Given the description of an element on the screen output the (x, y) to click on. 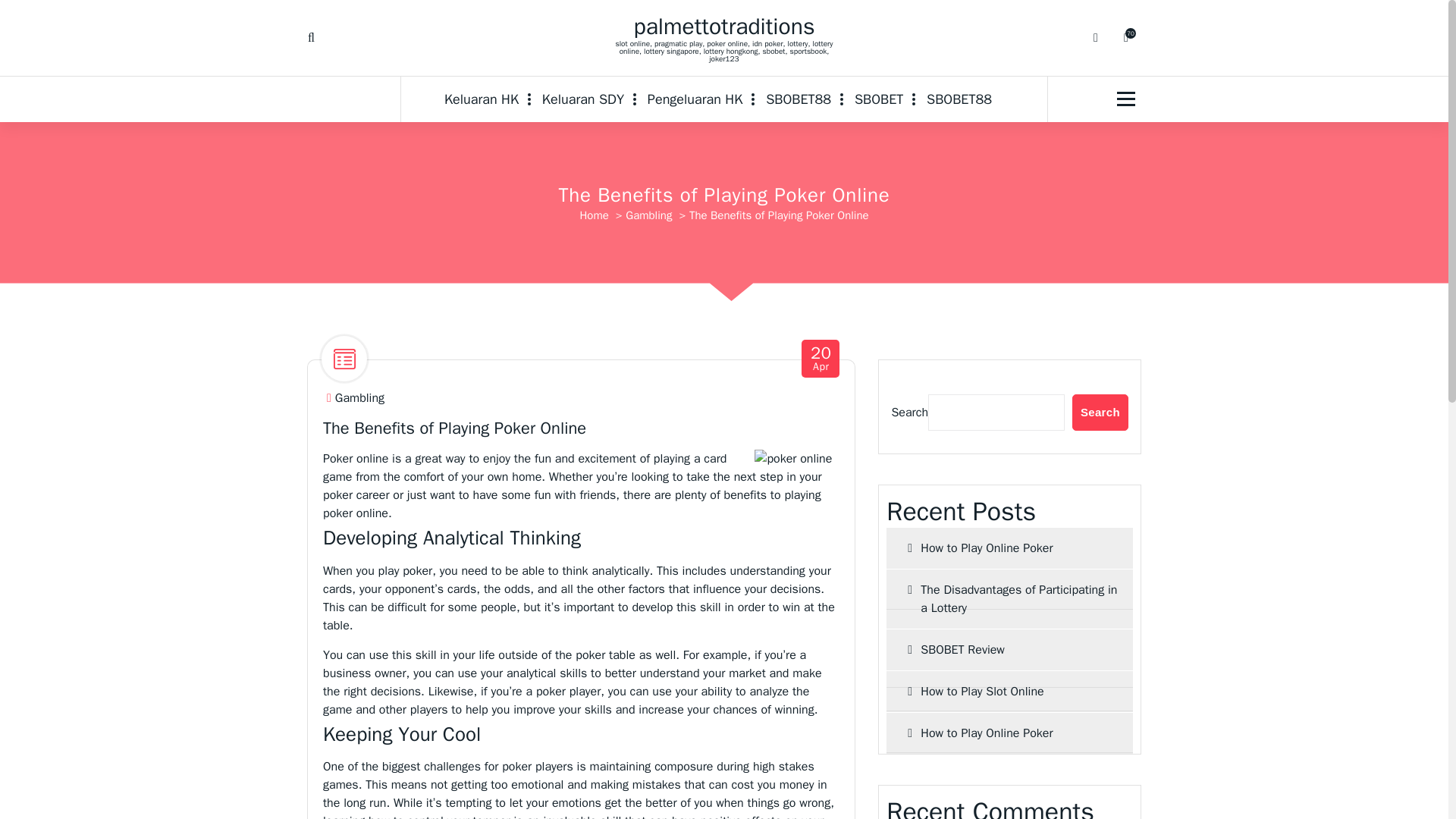
Pengeluaran HK (694, 99)
Keluaran SDY (582, 99)
SBOBET88 (959, 99)
Gambling (648, 214)
How to Play Online Poker (820, 358)
Keluaran SDY (1009, 732)
SBOBET88 (582, 99)
Gambling (798, 99)
Search (359, 398)
How to Play Slot Online (1099, 411)
Pengeluaran HK (1009, 690)
palmettotraditions (694, 99)
Home (724, 26)
How to Play Online Poker (593, 214)
